Given the description of an element on the screen output the (x, y) to click on. 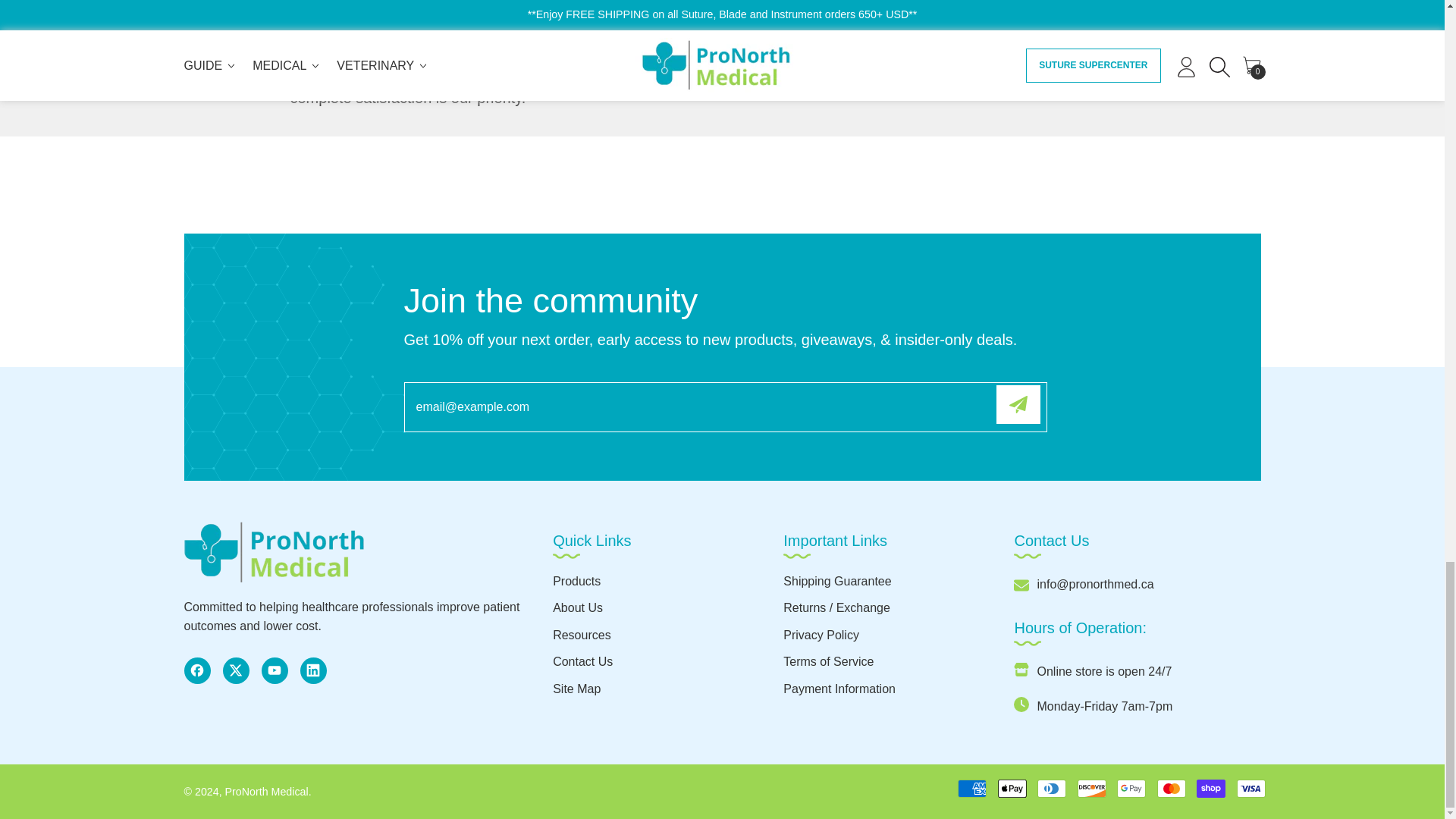
Twitter (235, 670)
Facebook (196, 670)
YouTube (273, 670)
